Given the description of an element on the screen output the (x, y) to click on. 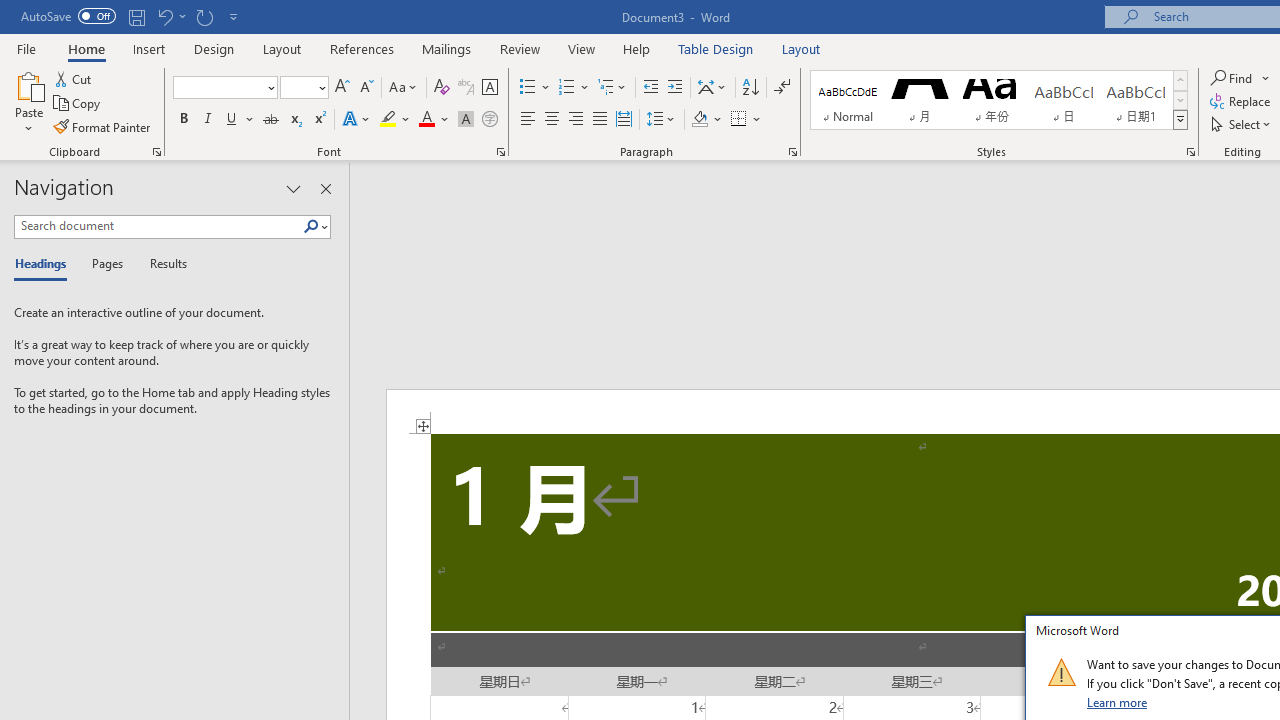
Font Color RGB(255, 0, 0) (426, 119)
